Given the description of an element on the screen output the (x, y) to click on. 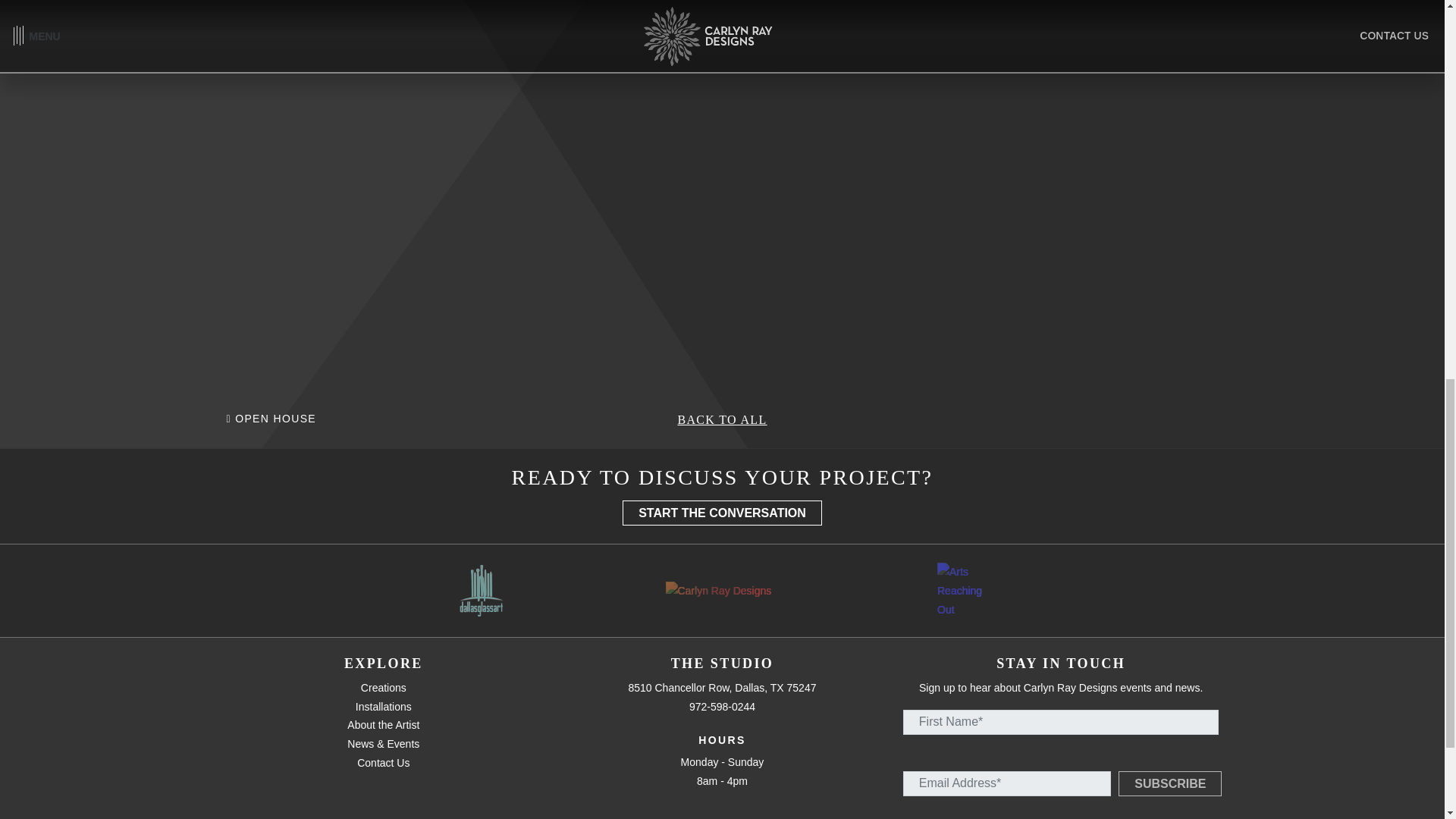
START THE CONVERSATION (722, 512)
 OPEN HOUSE (270, 418)
Subscribe (1169, 783)
BACK TO ALL (722, 418)
